Given the description of an element on the screen output the (x, y) to click on. 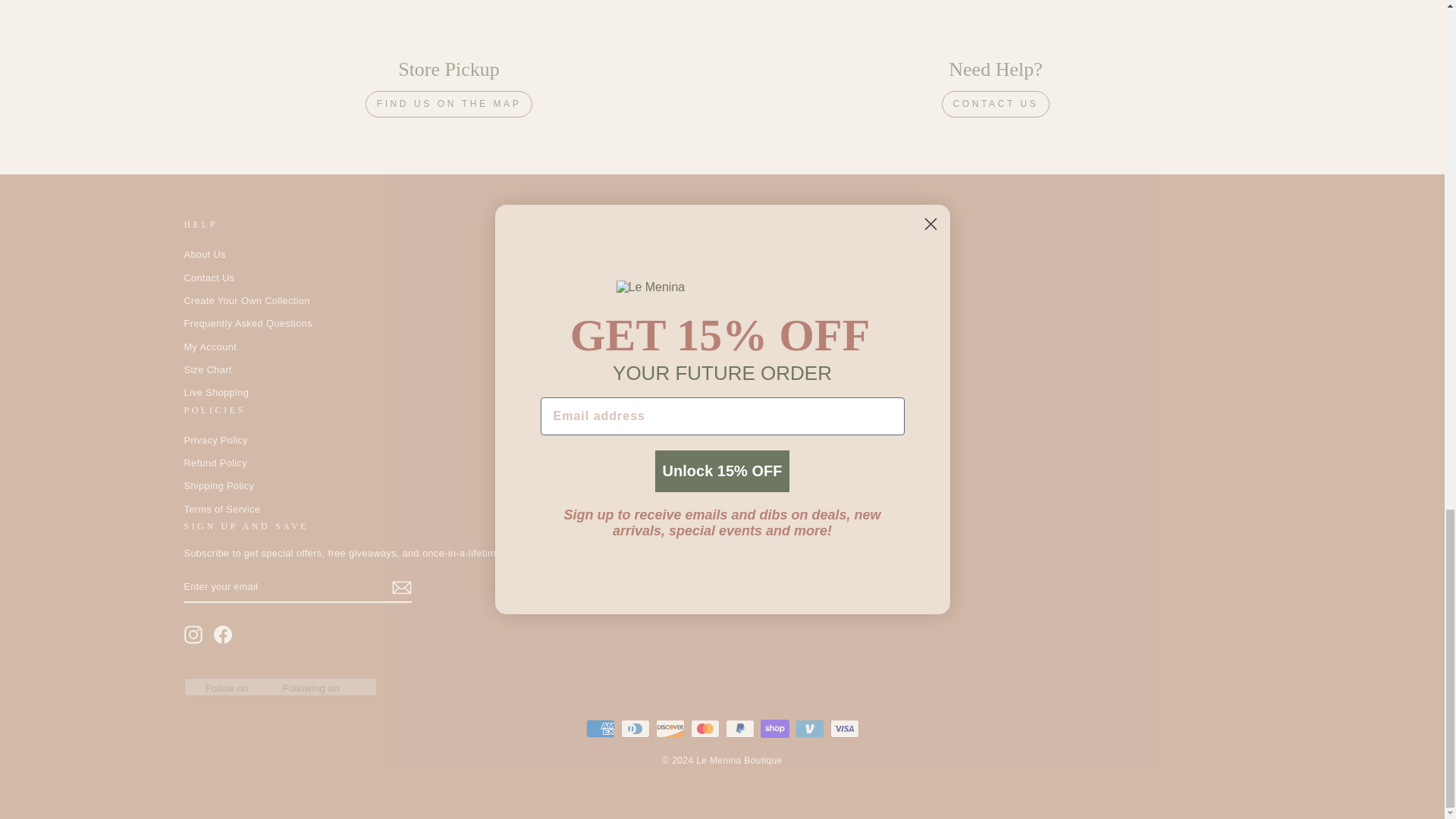
instagram (192, 634)
icon-email (400, 587)
Le Menina Boutique  on Instagram (192, 634)
Le Menina Boutique  on Facebook (222, 634)
